Given the description of an element on the screen output the (x, y) to click on. 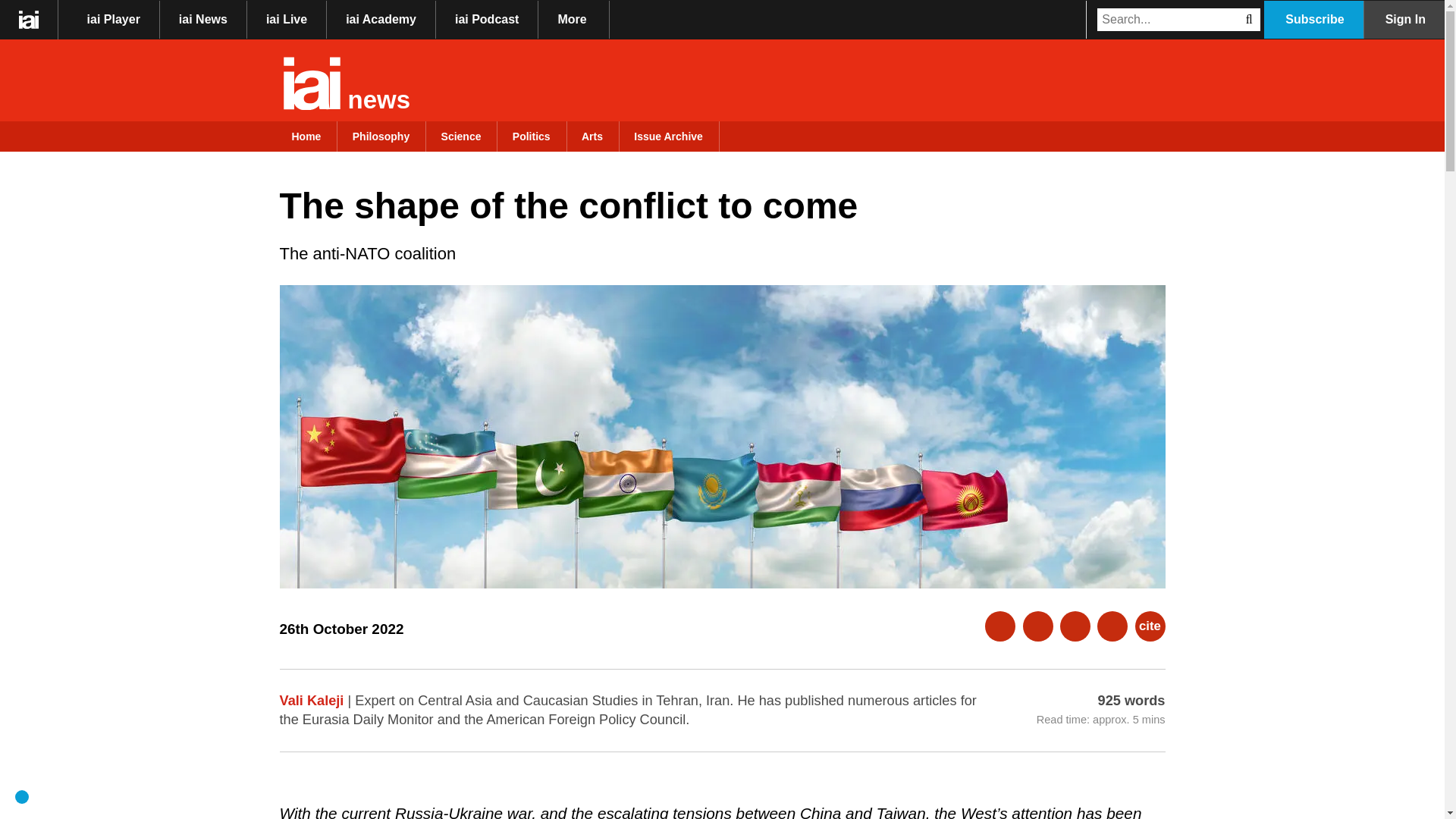
cite (1149, 625)
iai Player (114, 19)
iai Live (286, 19)
iai Academy (380, 19)
iai News (203, 19)
iai Academy (380, 19)
More  (574, 19)
Science (461, 136)
Philosophy (381, 136)
iai News (203, 19)
The shape of the conflict  to come (574, 19)
Issue Archive (667, 136)
Politics (531, 136)
iai Podcast (486, 19)
Arts (591, 136)
